Given the description of an element on the screen output the (x, y) to click on. 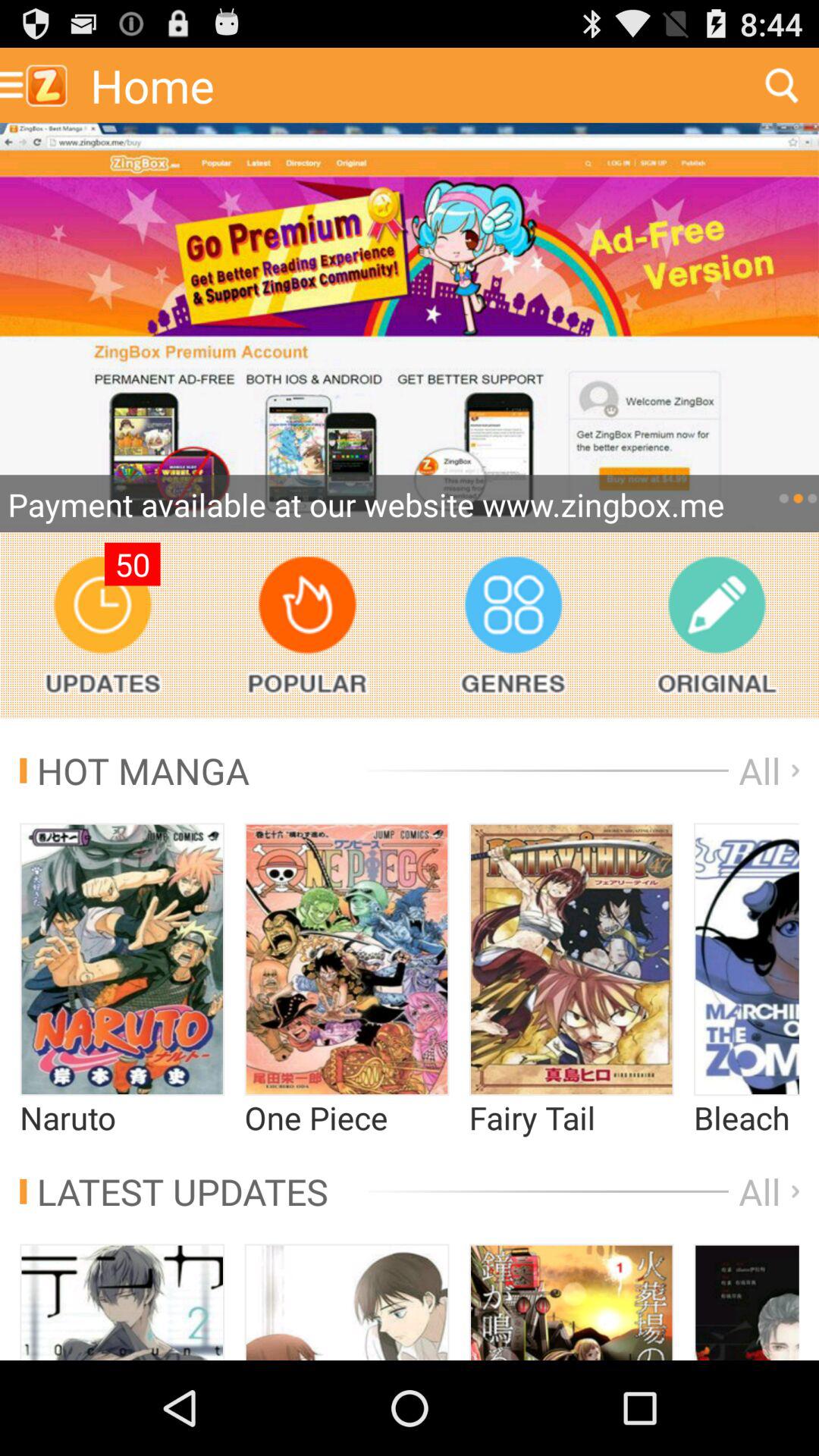
go to app (409, 327)
